Given the description of an element on the screen output the (x, y) to click on. 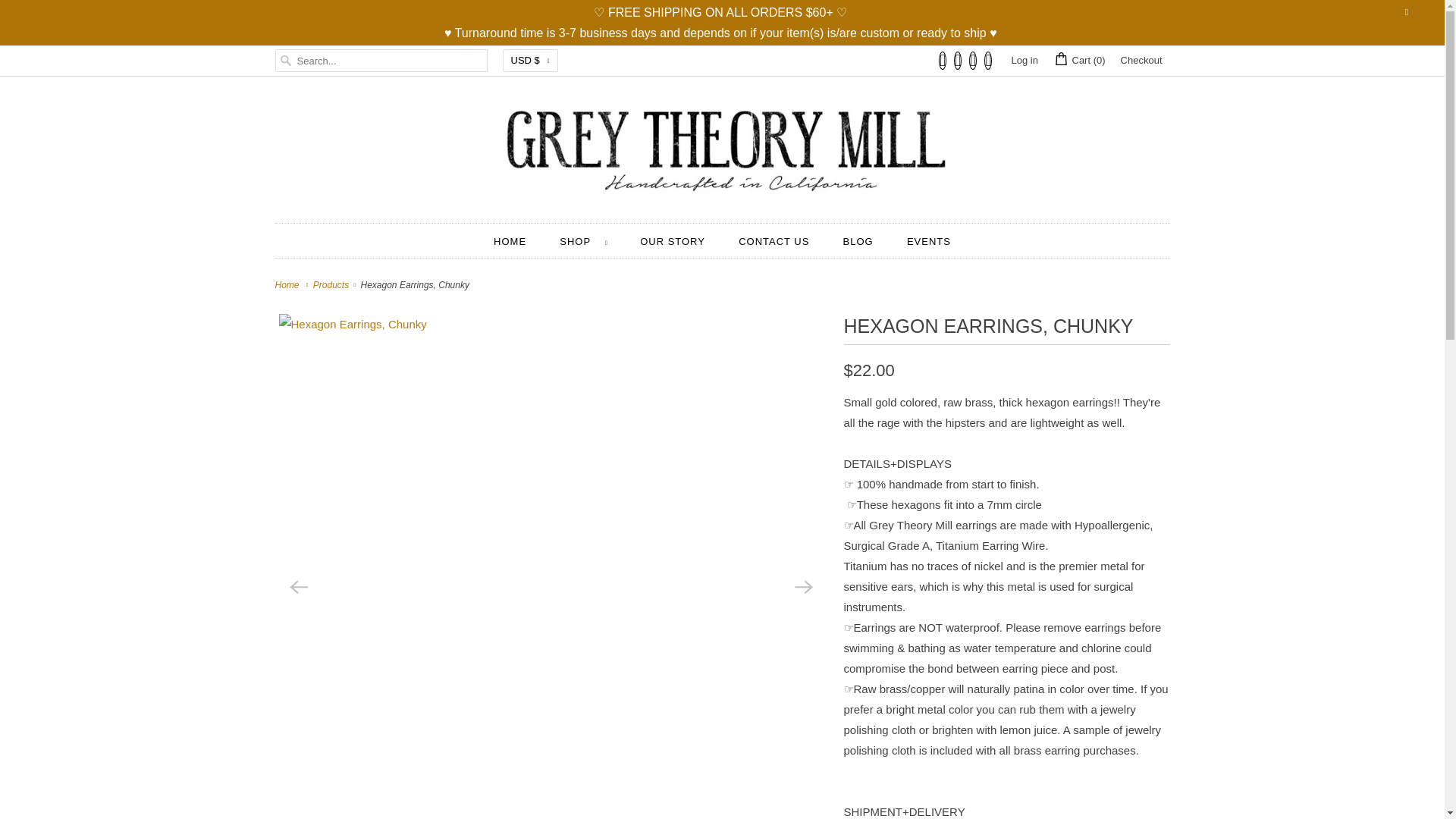
HOME (509, 240)
Log in (1023, 60)
Grey Theory Mill (288, 285)
Products (332, 285)
SHOP  (583, 240)
Grey Theory Mill (722, 153)
Checkout (1141, 60)
